Given the description of an element on the screen output the (x, y) to click on. 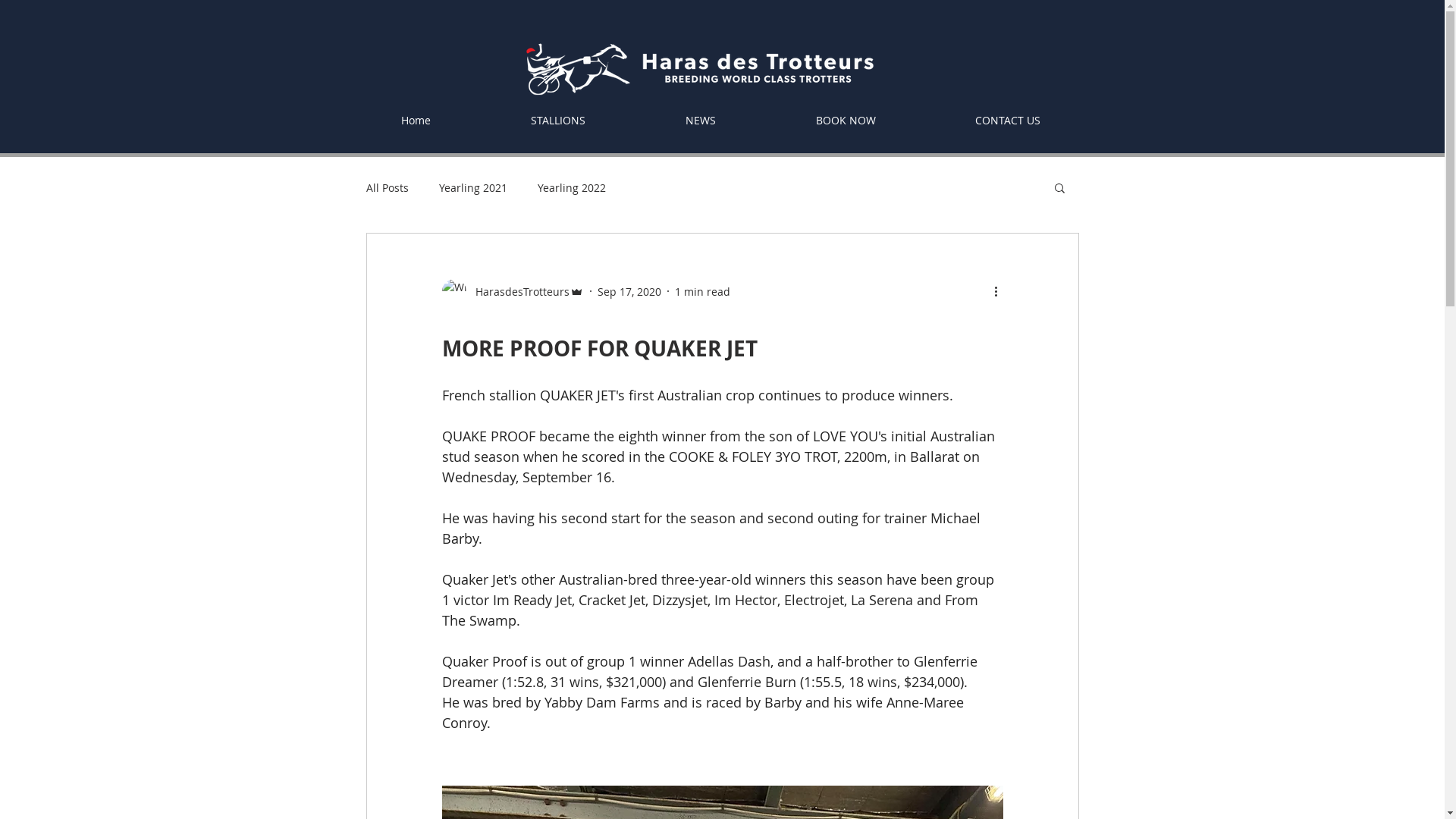
Home Element type: text (415, 120)
HarasdesTrotteurs Element type: text (512, 291)
All Posts Element type: text (386, 187)
STALLIONS Element type: text (557, 120)
Yearling 2022 Element type: text (570, 187)
Yearling 2021 Element type: text (472, 187)
CONTACT US Element type: text (1007, 120)
